Given the description of an element on the screen output the (x, y) to click on. 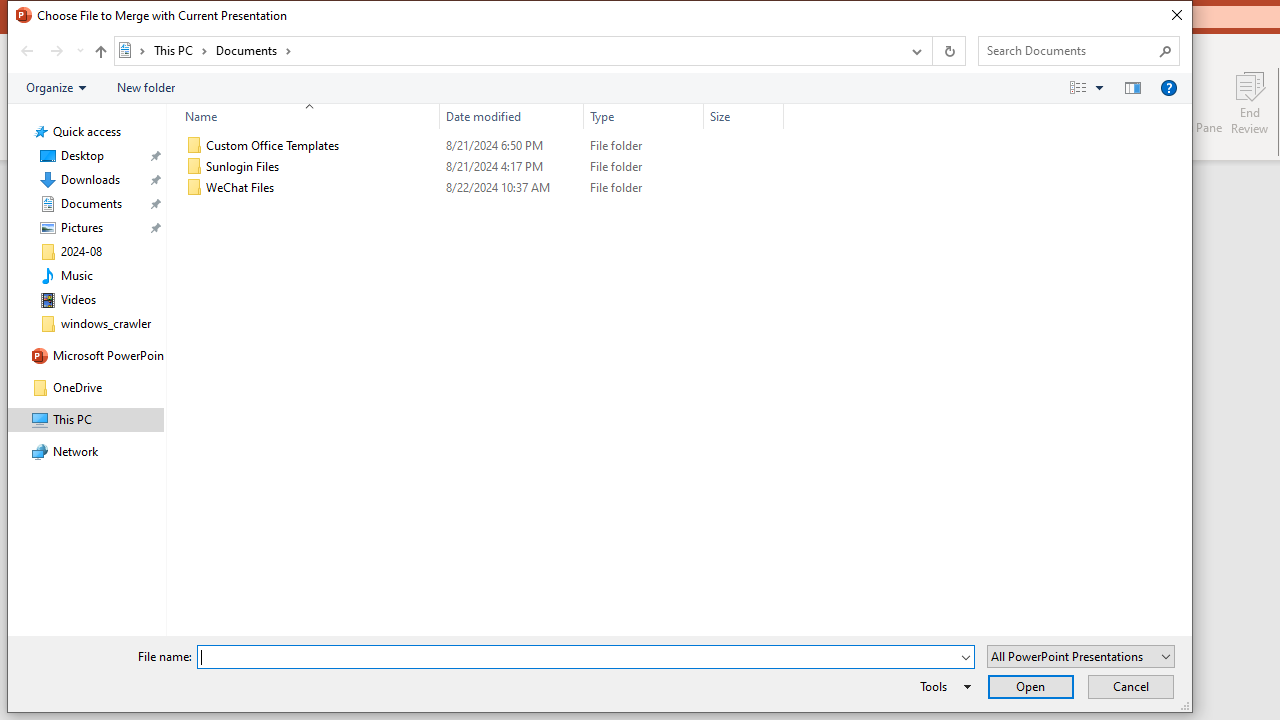
Tools (942, 686)
Address band toolbar (931, 51)
Command Module (599, 87)
Refresh "Documents" (F5) (948, 51)
Files of type: (1080, 656)
Preview pane (1132, 87)
Up to "This PC" (Alt + Up Arrow) (100, 52)
File name: (577, 657)
Address: Documents (506, 51)
New folder (145, 87)
Custom Office Templates (480, 145)
All locations (132, 50)
Organize (56, 87)
Class: UIImage (194, 187)
Name (321, 187)
